Given the description of an element on the screen output the (x, y) to click on. 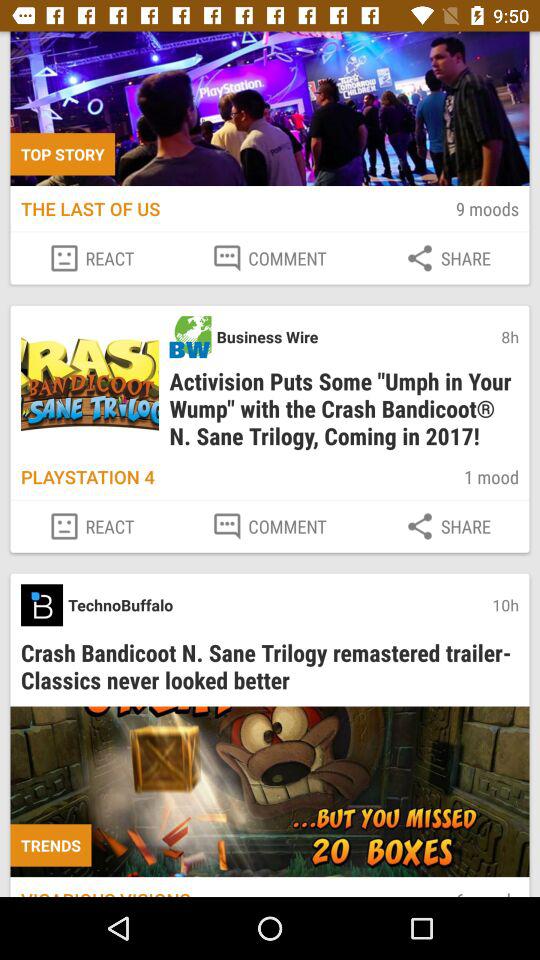
go to comment (269, 526)
click on comment option (269, 258)
select the image at the bottom of the screen (269, 791)
